Given the description of an element on the screen output the (x, y) to click on. 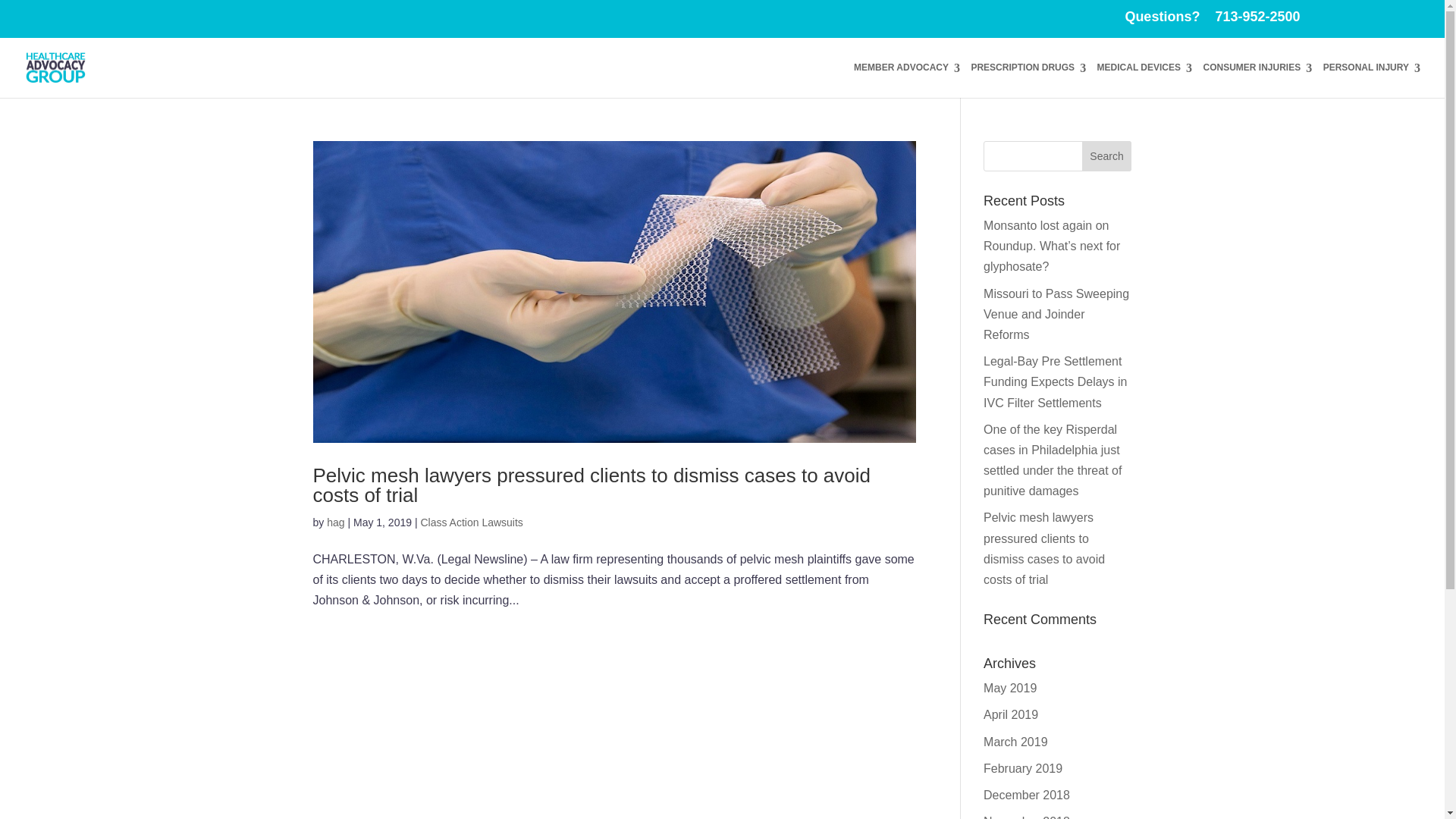
713-952-2500 (1252, 16)
MEDICAL DEVICES (1144, 79)
MEMBER ADVOCACY (906, 79)
CONSUMER INJURIES (1256, 79)
Search (1106, 155)
PRESCRIPTION DRUGS (1028, 79)
Posts by hag (334, 522)
